Given the description of an element on the screen output the (x, y) to click on. 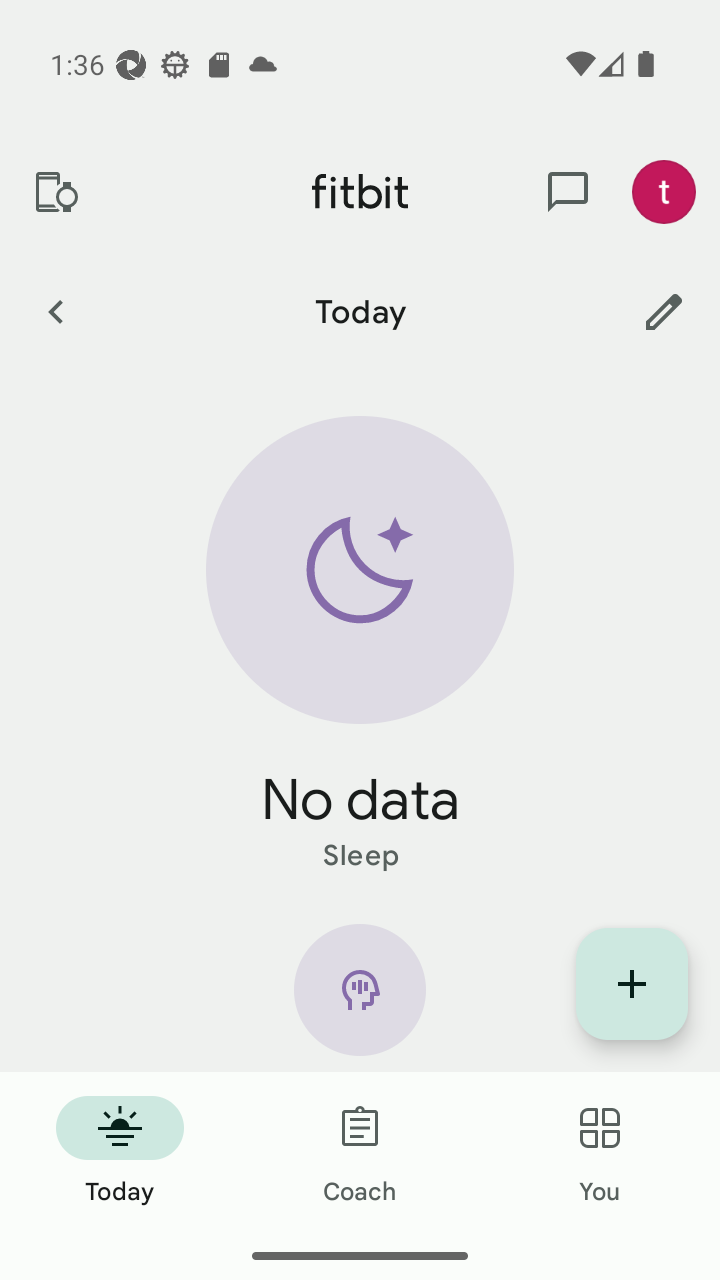
Devices and apps (55, 191)
messages and notifications (567, 191)
Previous Day (55, 311)
Customize (664, 311)
Sleep static hero arc No data Sleep (359, 645)
Mindfulness icon (360, 998)
Display list of quick log entries (632, 983)
Coach (359, 1151)
You (600, 1151)
